Given the description of an element on the screen output the (x, y) to click on. 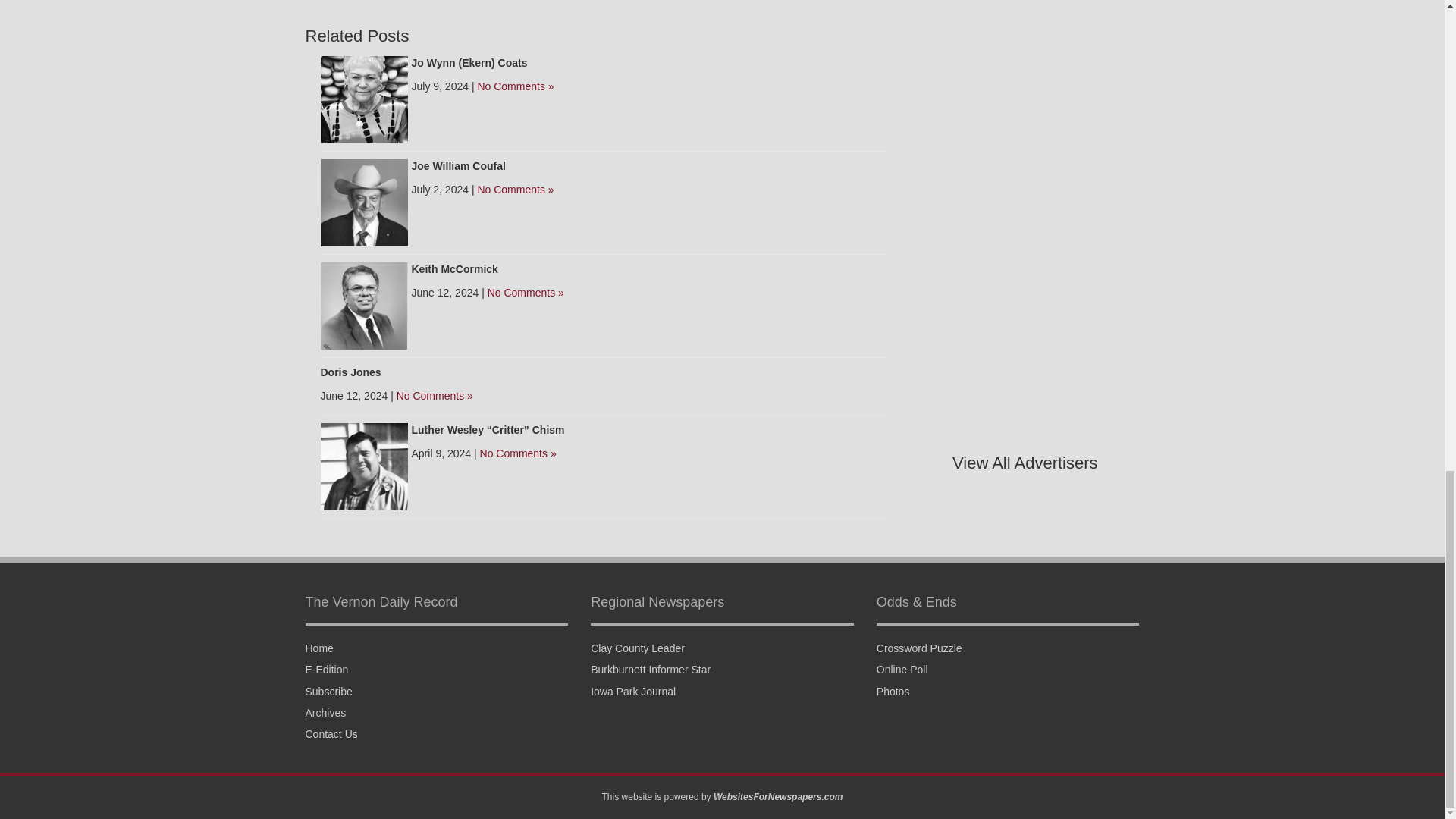
Keith McCormick (363, 304)
Keith McCormick (453, 268)
Joe William Coufal (457, 165)
Joe William Coufal (363, 201)
Joe William Coufal (457, 165)
Doris Jones (350, 372)
